Given the description of an element on the screen output the (x, y) to click on. 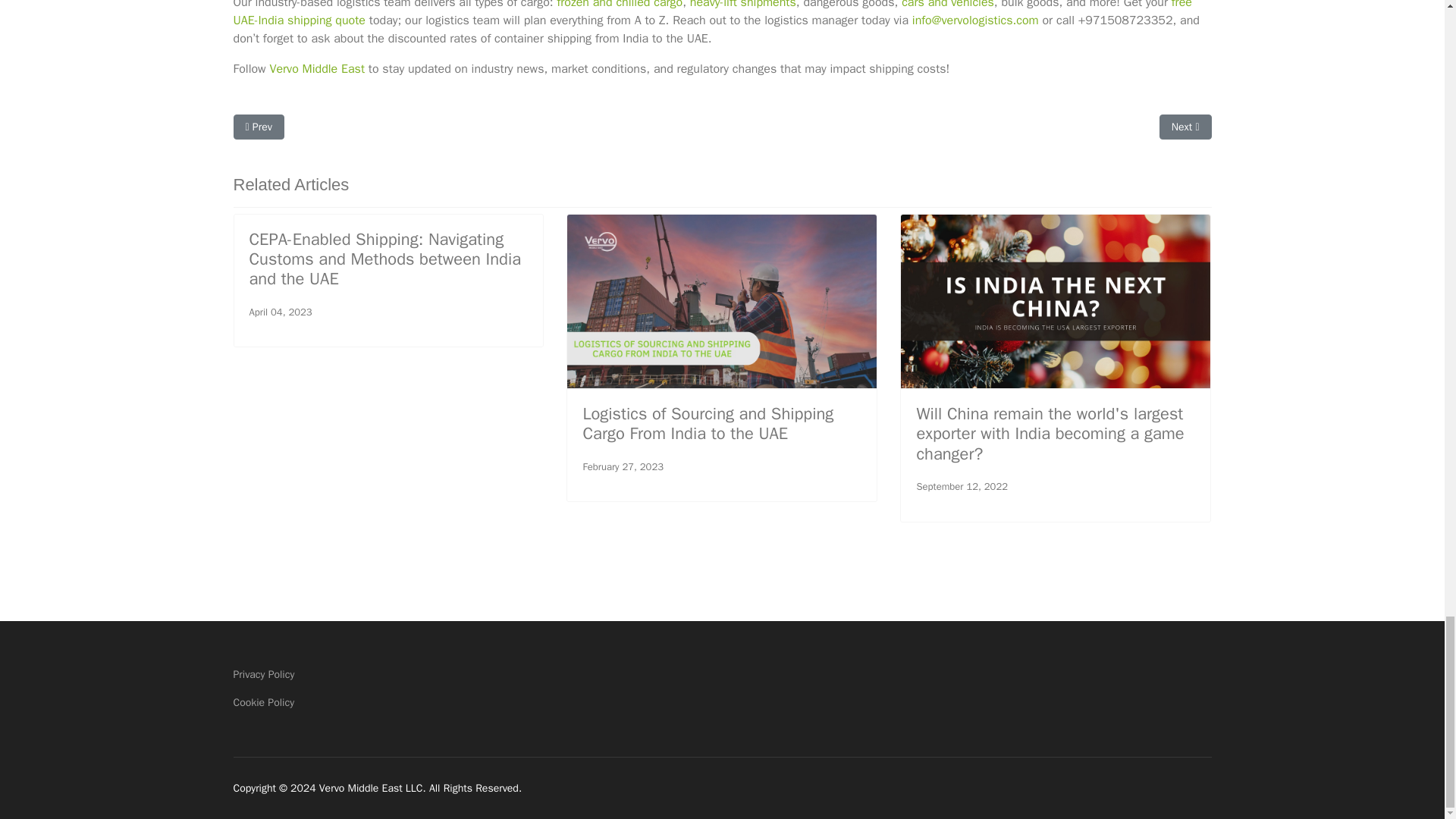
Published: February 27, 2023 (622, 467)
Published: April 04, 2023 (279, 312)
Published: September 12, 2022 (961, 486)
